Given the description of an element on the screen output the (x, y) to click on. 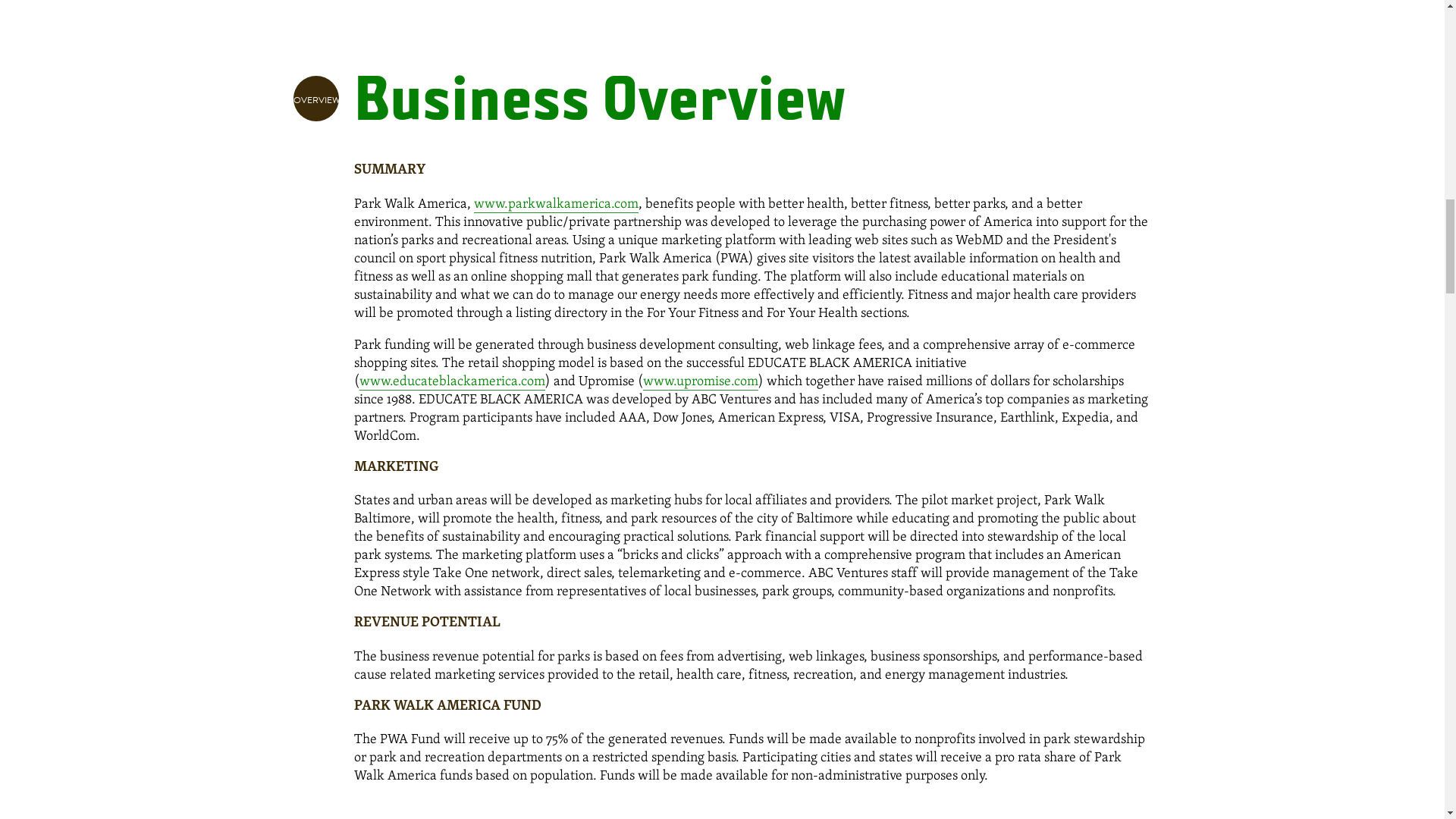
OVERVIEW (314, 98)
www.parkwalkamerica.com (555, 202)
www.educateblackamerica.com (451, 380)
www.upromise.com (700, 380)
